Given the description of an element on the screen output the (x, y) to click on. 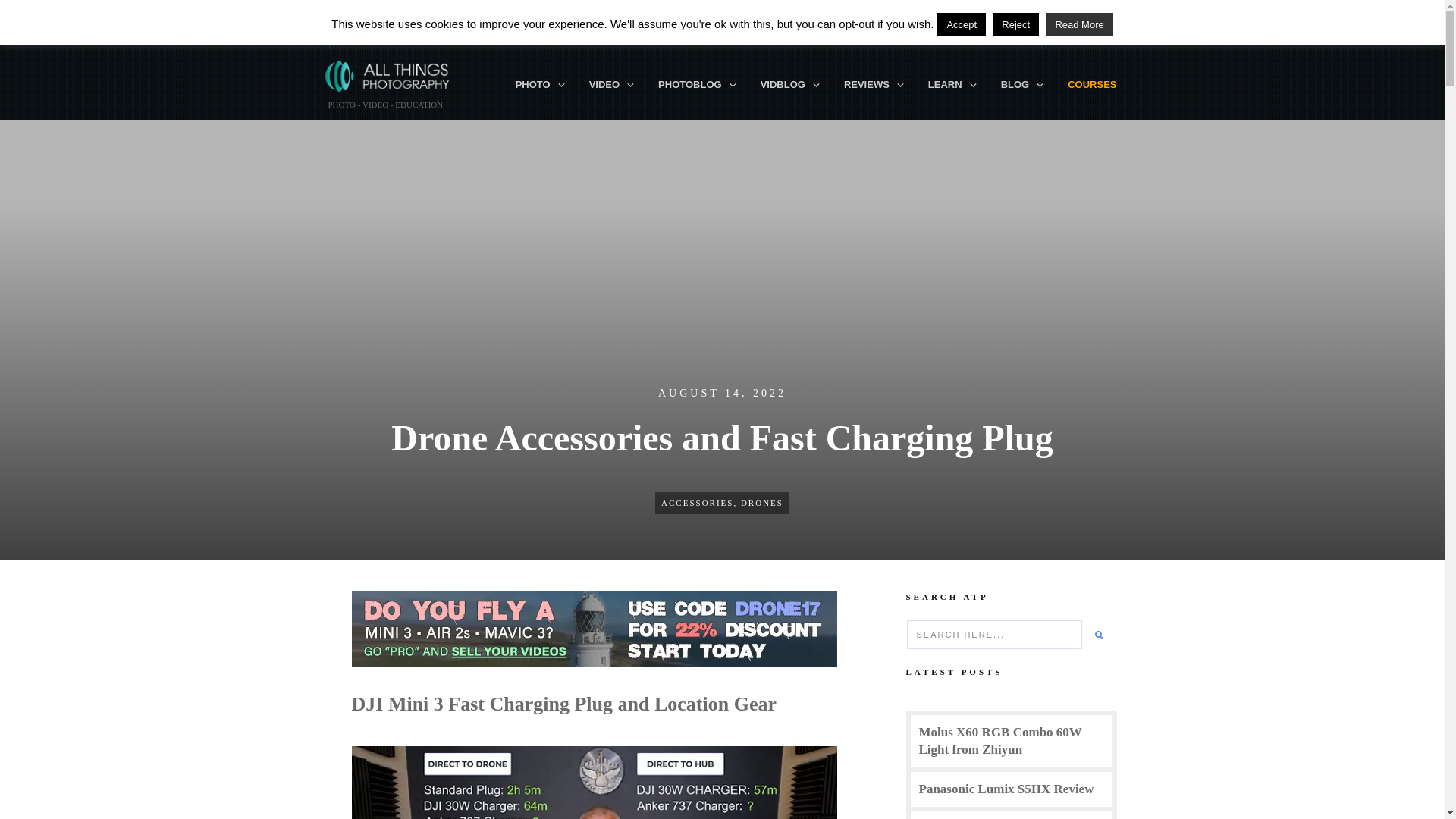
VIDEO (611, 85)
PHOTO (540, 85)
SEARCH (1078, 32)
Photography Tips (540, 85)
Video Tips and Tutorials (611, 85)
